Given the description of an element on the screen output the (x, y) to click on. 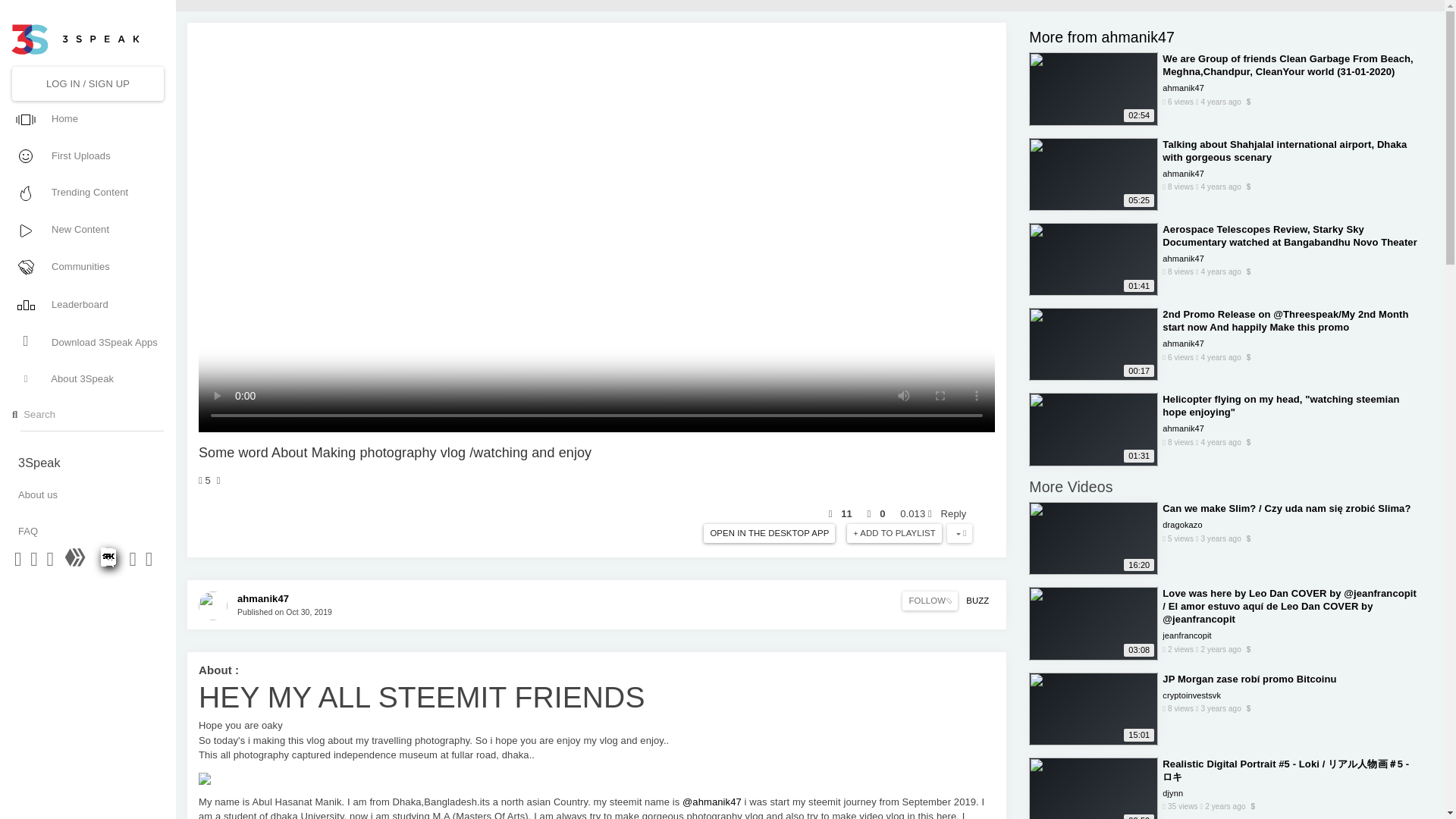
Payout value (915, 513)
ADD TO PLAYLIST (894, 533)
Leaderboard (85, 303)
OPEN IN THE DESKTOP APP (768, 533)
New Content (85, 229)
BUZZ (977, 600)
SPK Network (109, 562)
Home (85, 118)
First Uploads (85, 155)
Communities (85, 266)
FOLLOW (929, 600)
Download 3Speak Apps (85, 341)
Download 3Speak Apps (85, 341)
Trending Content (85, 192)
